Given the description of an element on the screen output the (x, y) to click on. 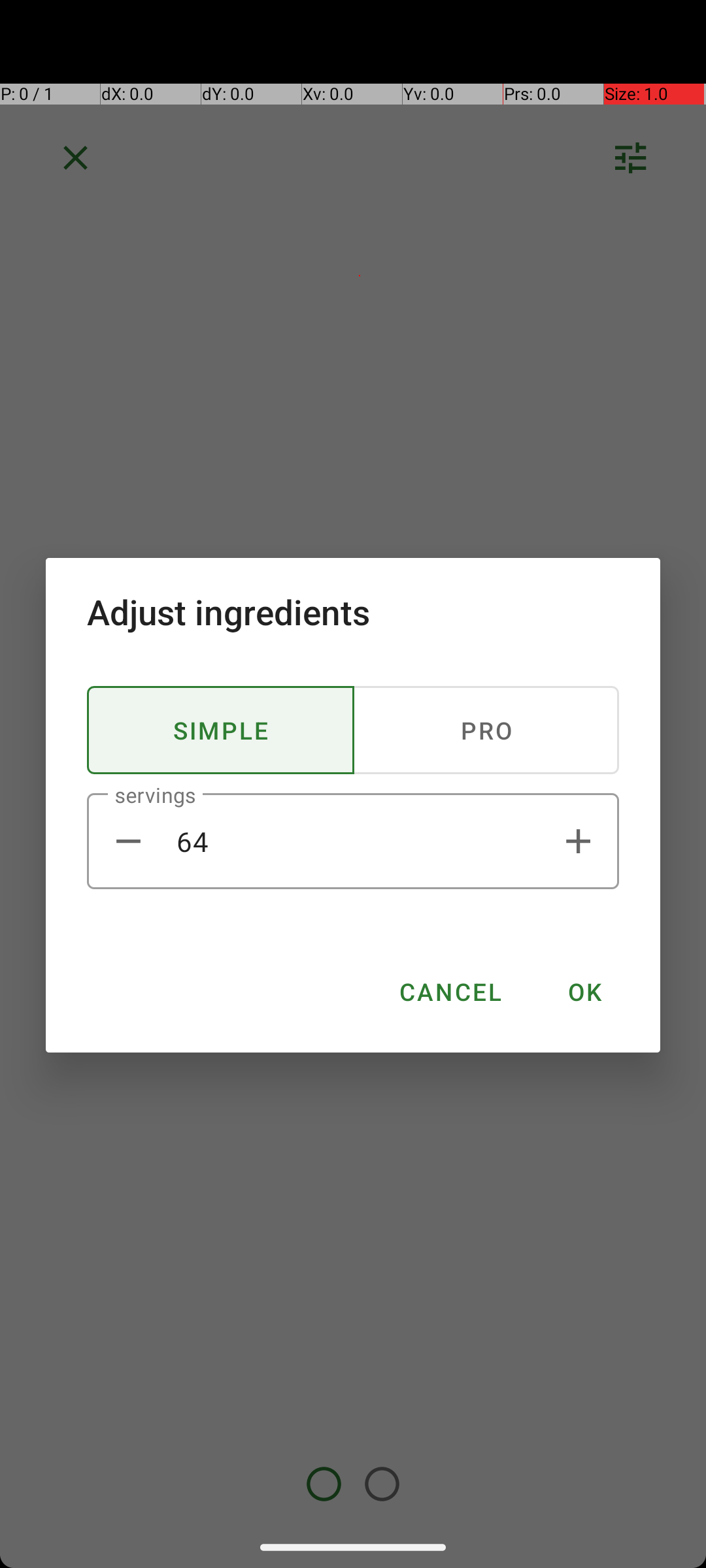
64 Element type: android.widget.EditText (352, 841)
